Given the description of an element on the screen output the (x, y) to click on. 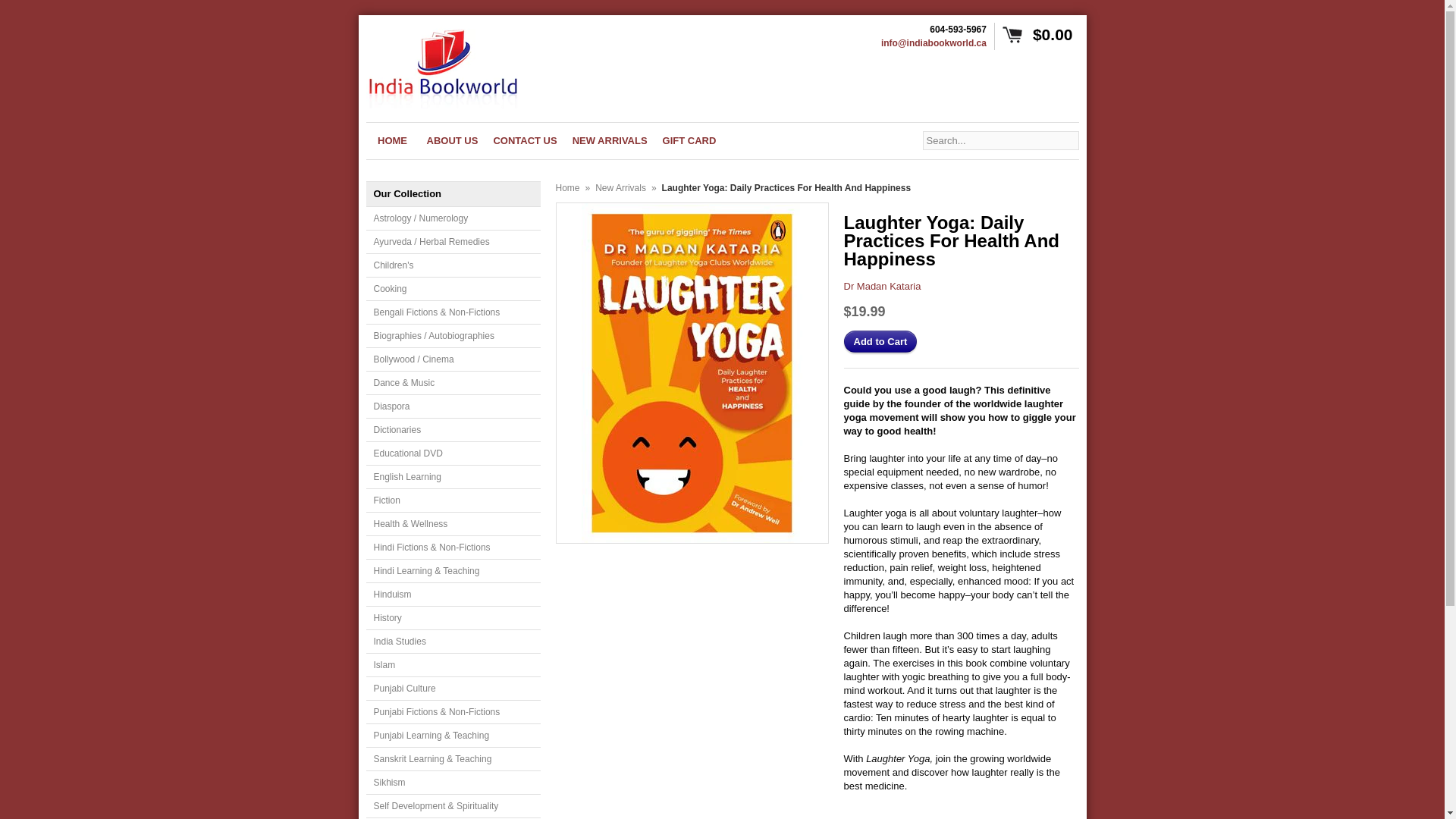
Search... (999, 140)
Cooking (452, 289)
GIFT CARD (689, 140)
HOME (392, 140)
Fiction (452, 500)
Hinduism (452, 594)
Educational DVD (452, 454)
Add to Cart (880, 341)
Dr Madan Kataria (881, 285)
India Studies (452, 641)
Children's (452, 265)
English Learning (452, 477)
Punjabi Culture (452, 689)
CONTACT US (524, 140)
